Given the description of an element on the screen output the (x, y) to click on. 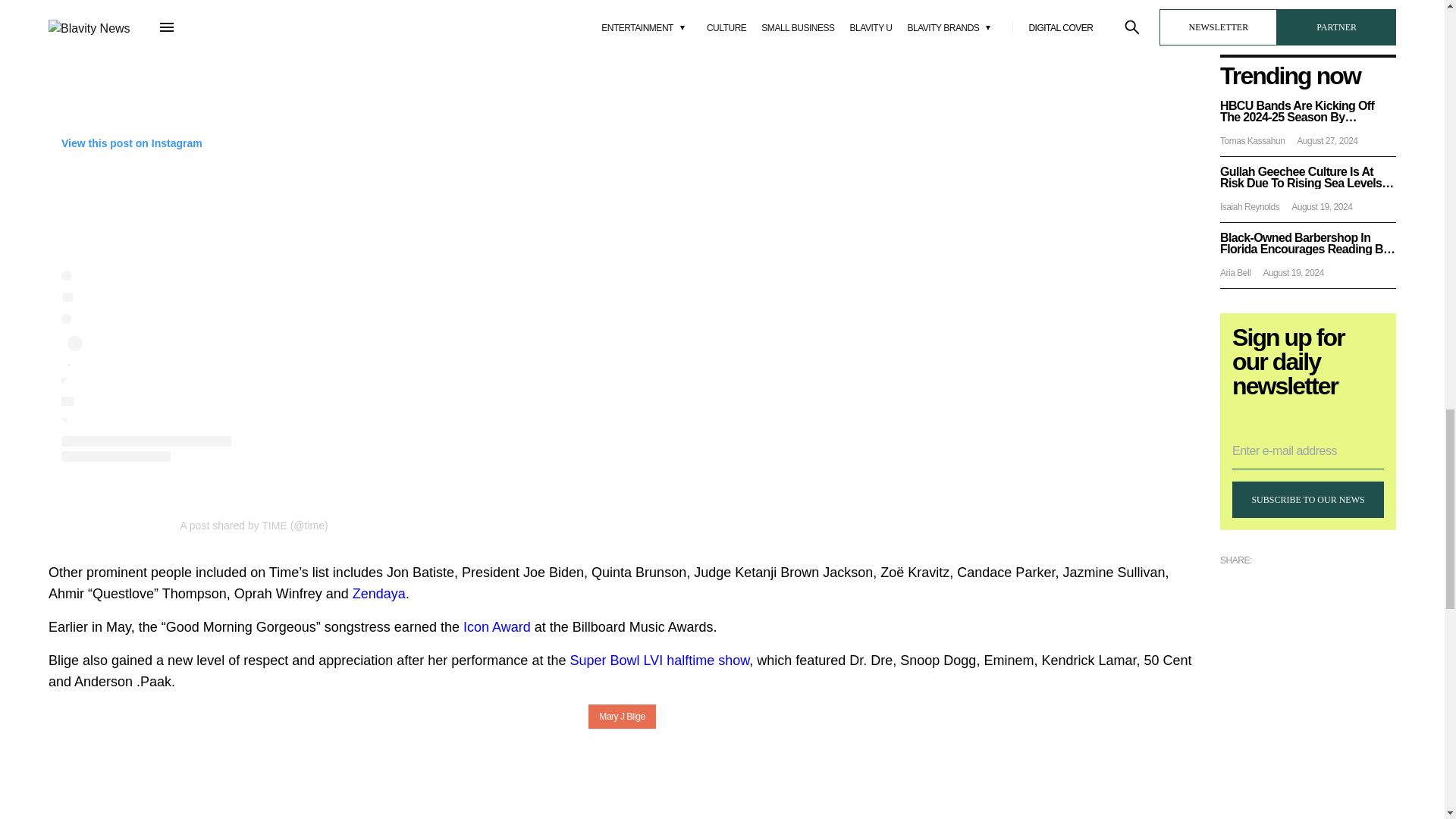
Mary J Blige (621, 716)
Super Bowl LVI halftime show (659, 660)
Zendaya (379, 593)
Icon Award (497, 626)
